Given the description of an element on the screen output the (x, y) to click on. 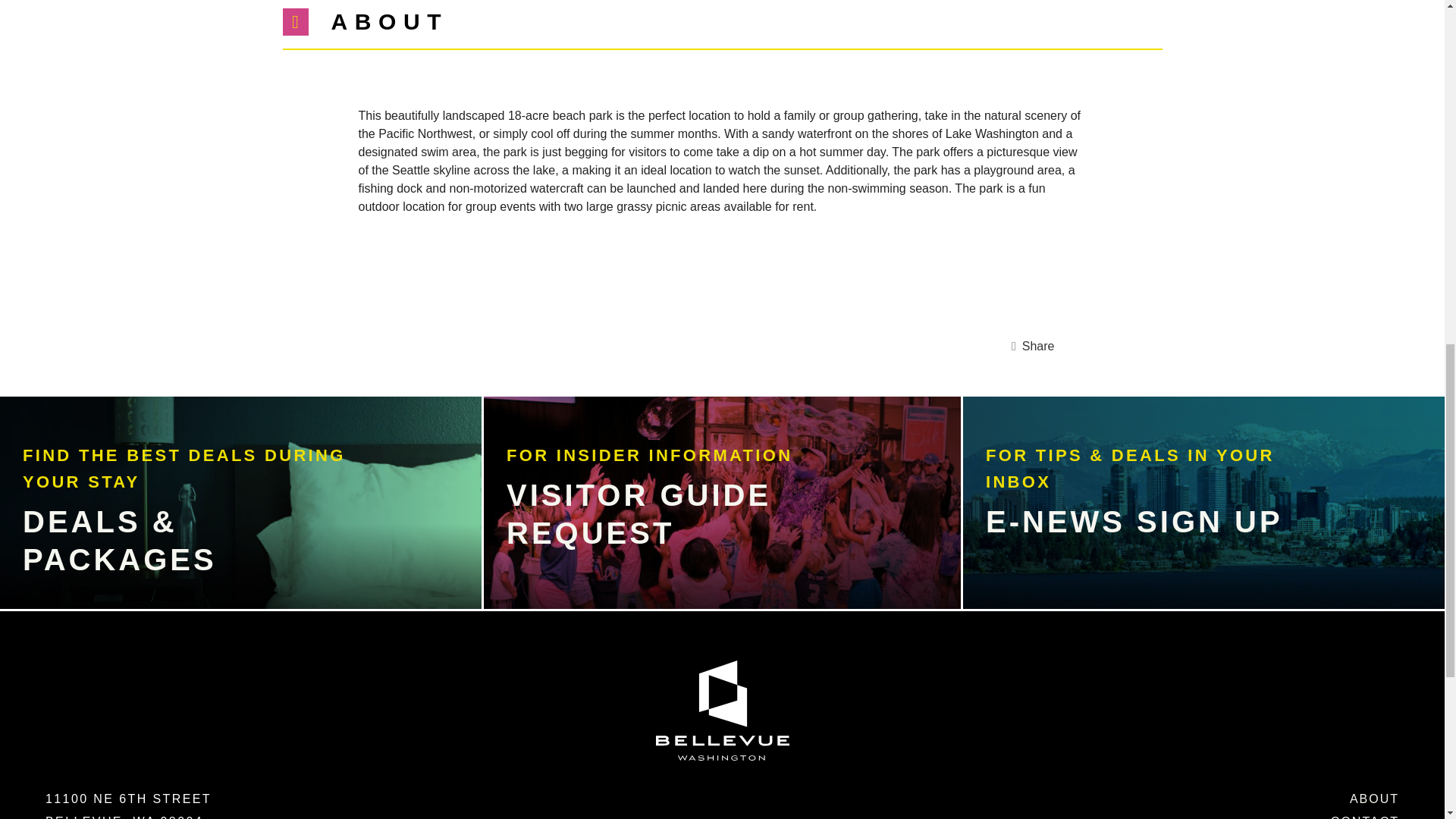
Shopping (167, 295)
THINGS TO DO (210, 238)
SHOPPING (167, 295)
Restaurants (212, 352)
RESTAURANTS (212, 352)
Hotels (139, 409)
EVENT CALENDAR (250, 181)
Event Calendar (250, 181)
HOTELS (139, 409)
Things To Do (210, 238)
